Given the description of an element on the screen output the (x, y) to click on. 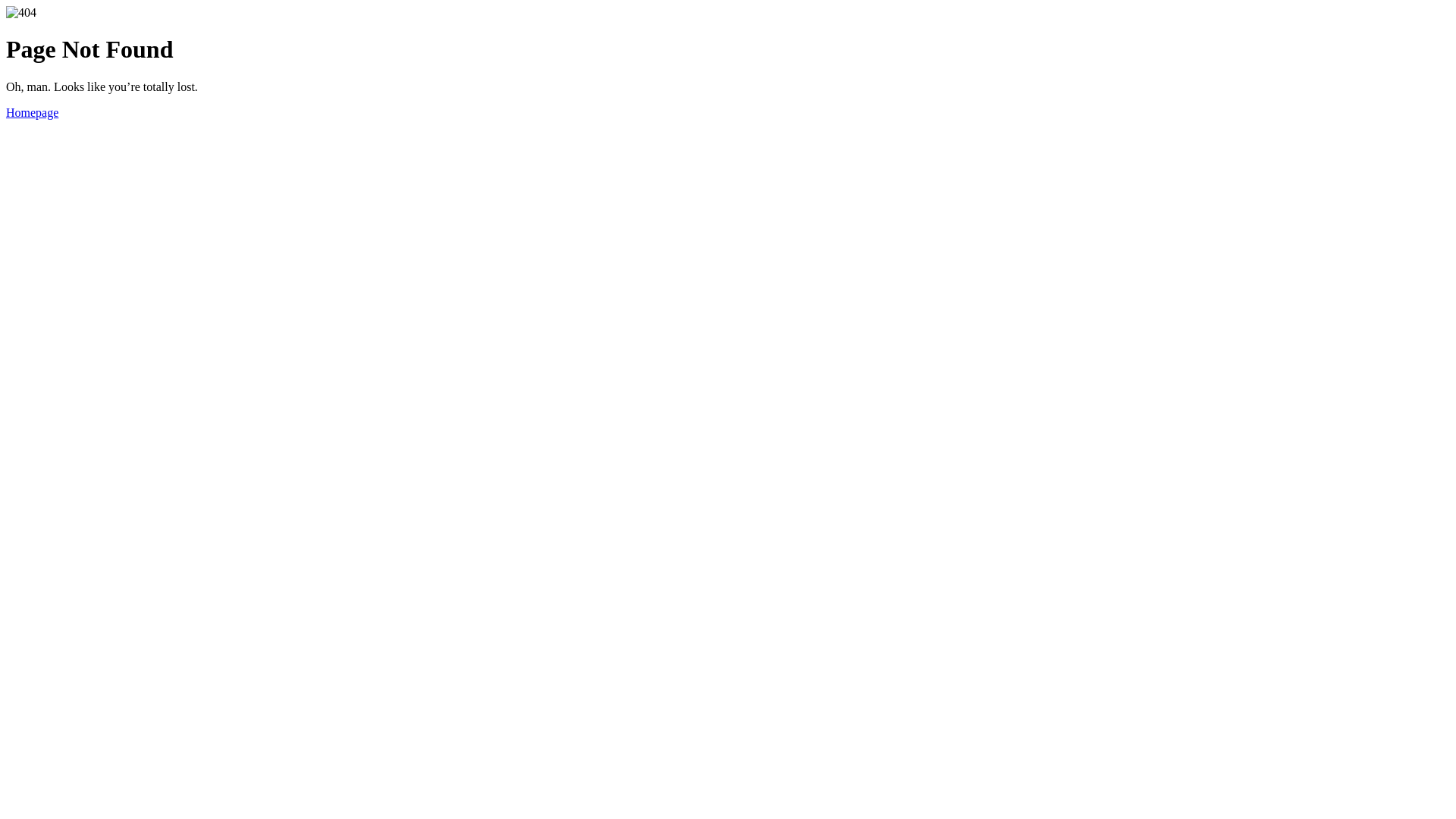
Homepage Element type: text (32, 112)
